Given the description of an element on the screen output the (x, y) to click on. 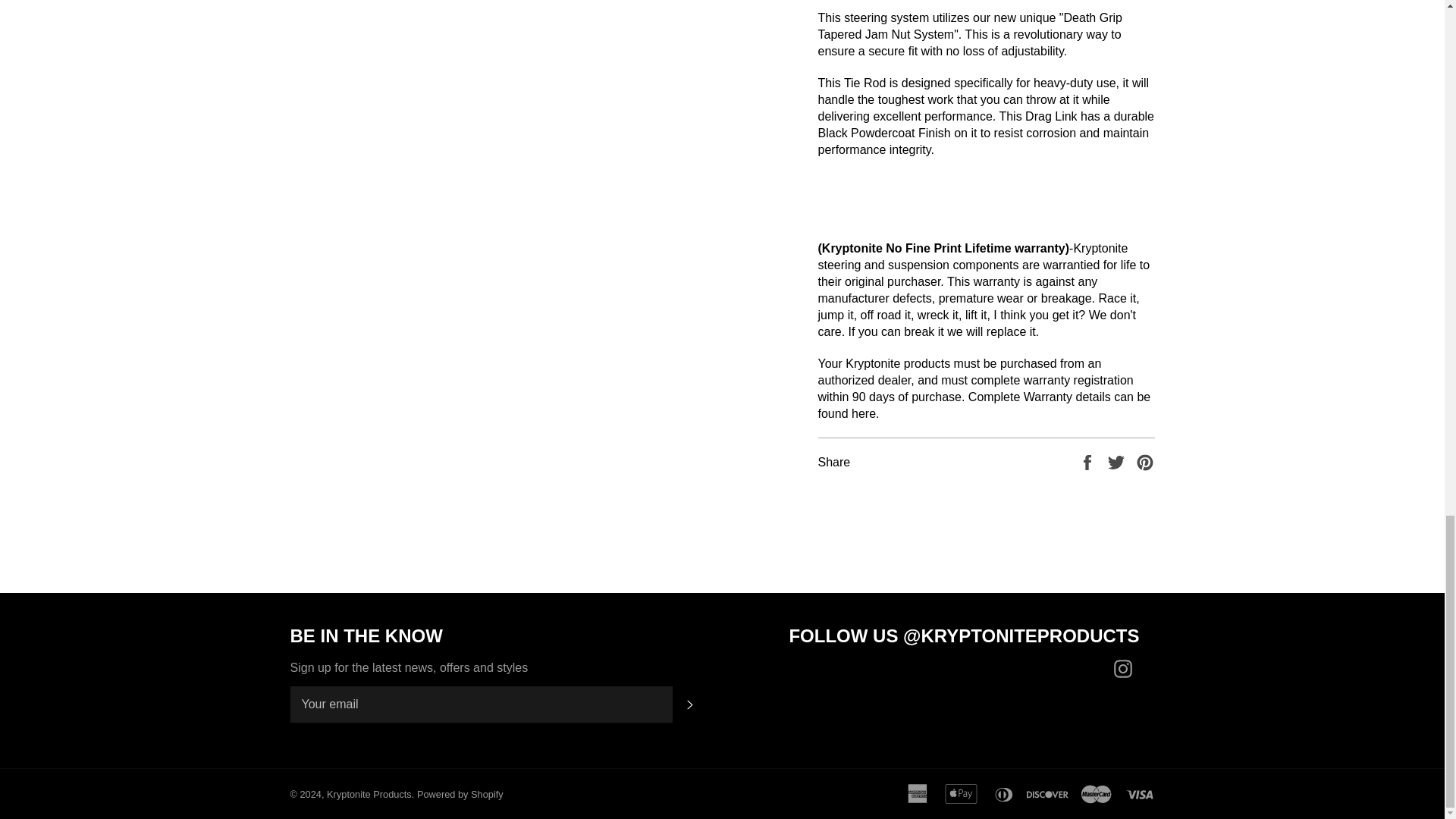
Tweet on Twitter (1117, 461)
Pin on Pinterest (1144, 461)
Share on Facebook (1088, 461)
Kryptonite Products on Instagram (1125, 669)
